Given the description of an element on the screen output the (x, y) to click on. 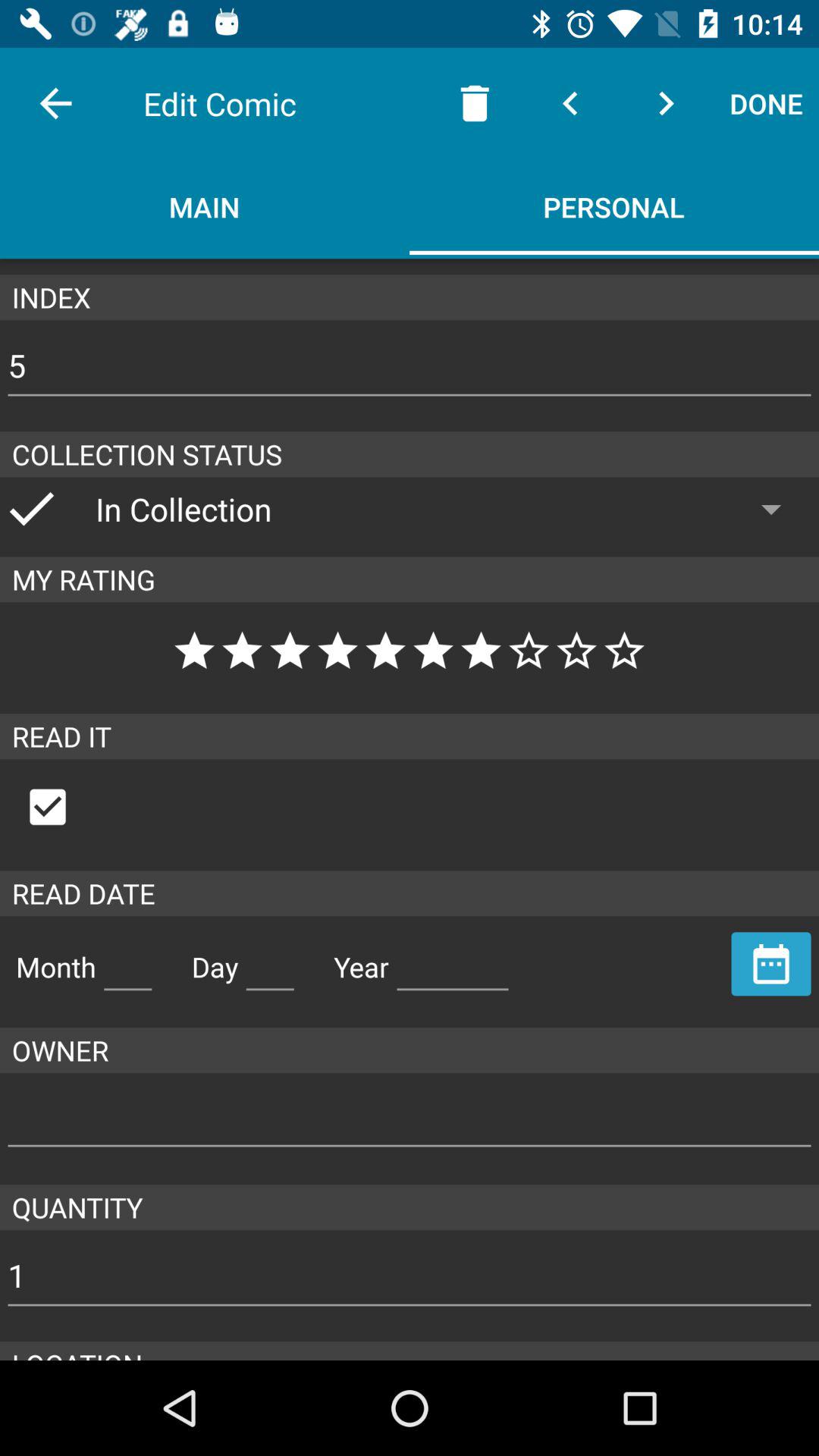
enter year (452, 961)
